Given the description of an element on the screen output the (x, y) to click on. 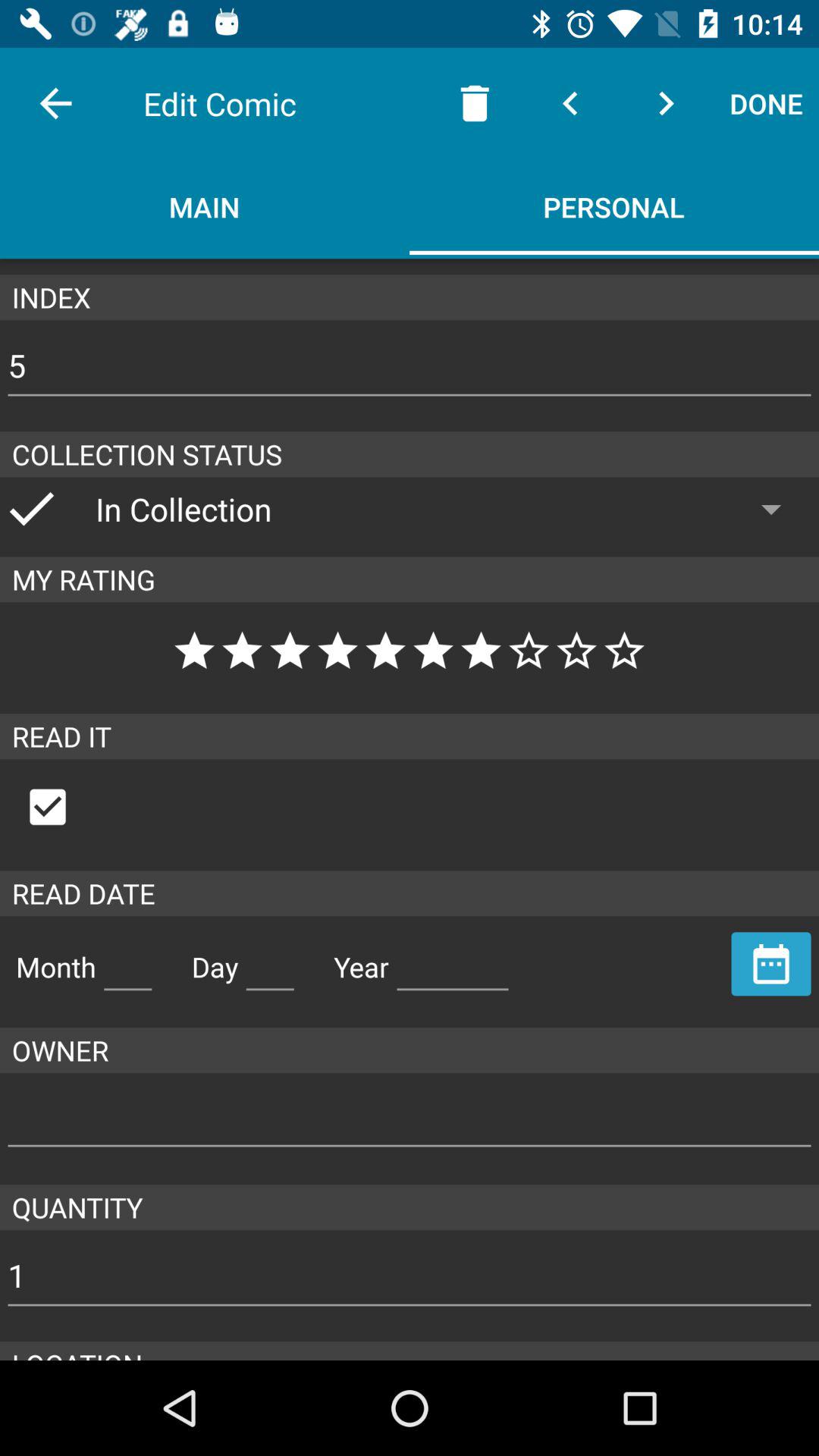
enter year (452, 961)
